Given the description of an element on the screen output the (x, y) to click on. 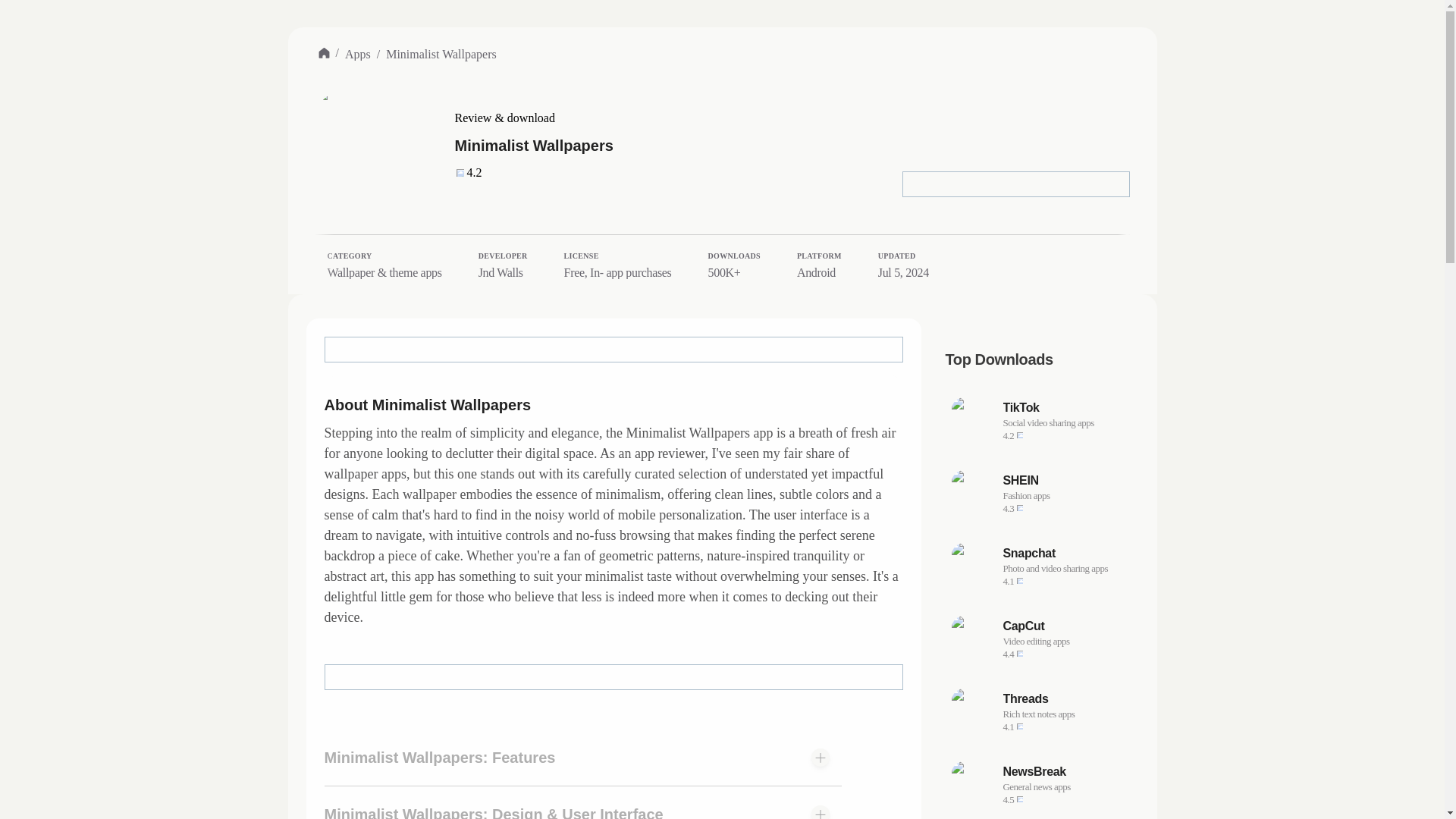
CapCut (1041, 492)
NewsBreak (1067, 626)
Snapchat (1041, 784)
SHEIN (1067, 771)
TikTok (1041, 565)
Video editing apps (1041, 638)
Minimalist Wallpapers: Features (1067, 553)
Photo and video sharing apps (1067, 480)
Threads (1067, 407)
Apps (1067, 641)
